Given the description of an element on the screen output the (x, y) to click on. 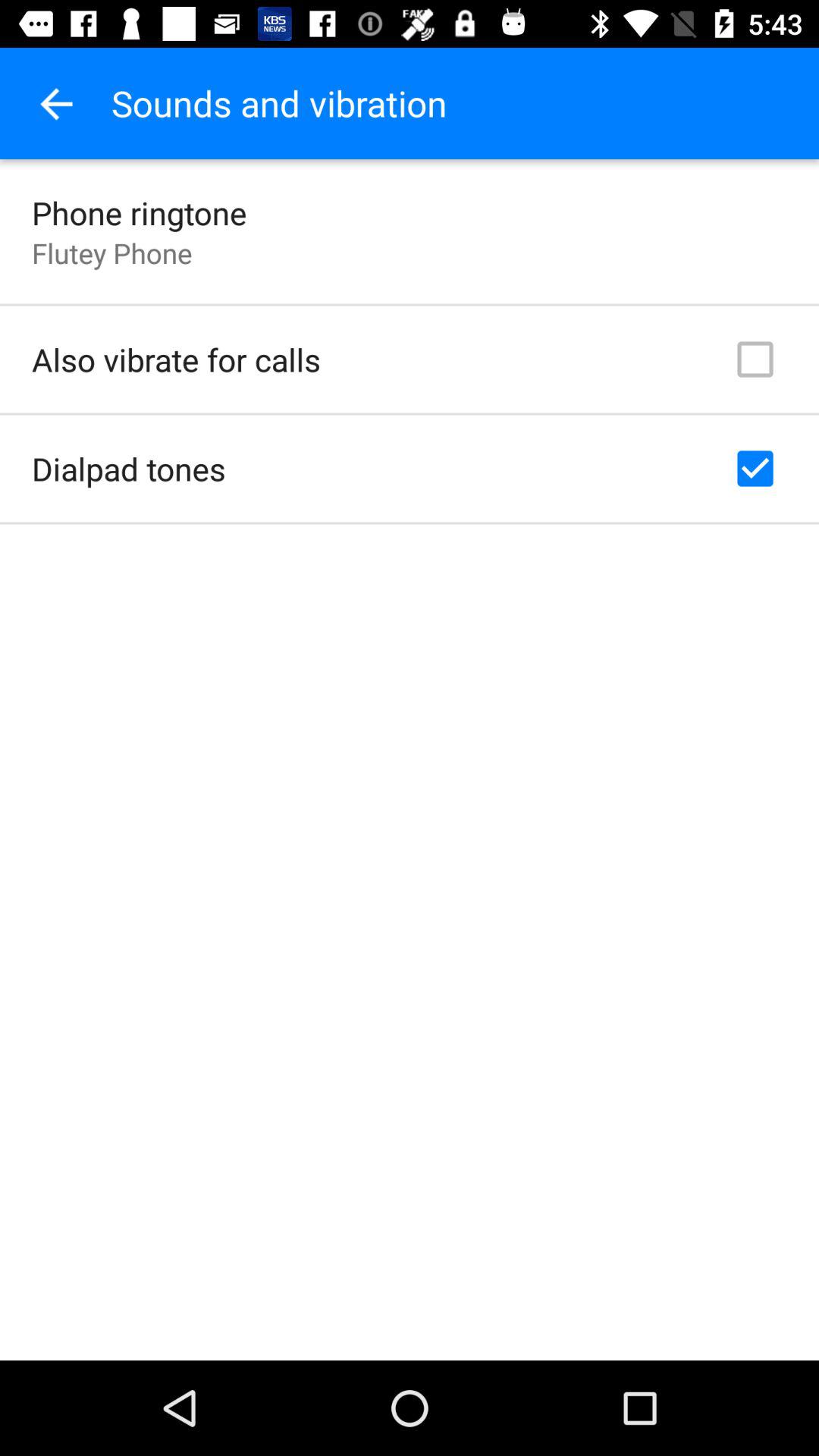
open the icon next to sounds and vibration icon (55, 103)
